Given the description of an element on the screen output the (x, y) to click on. 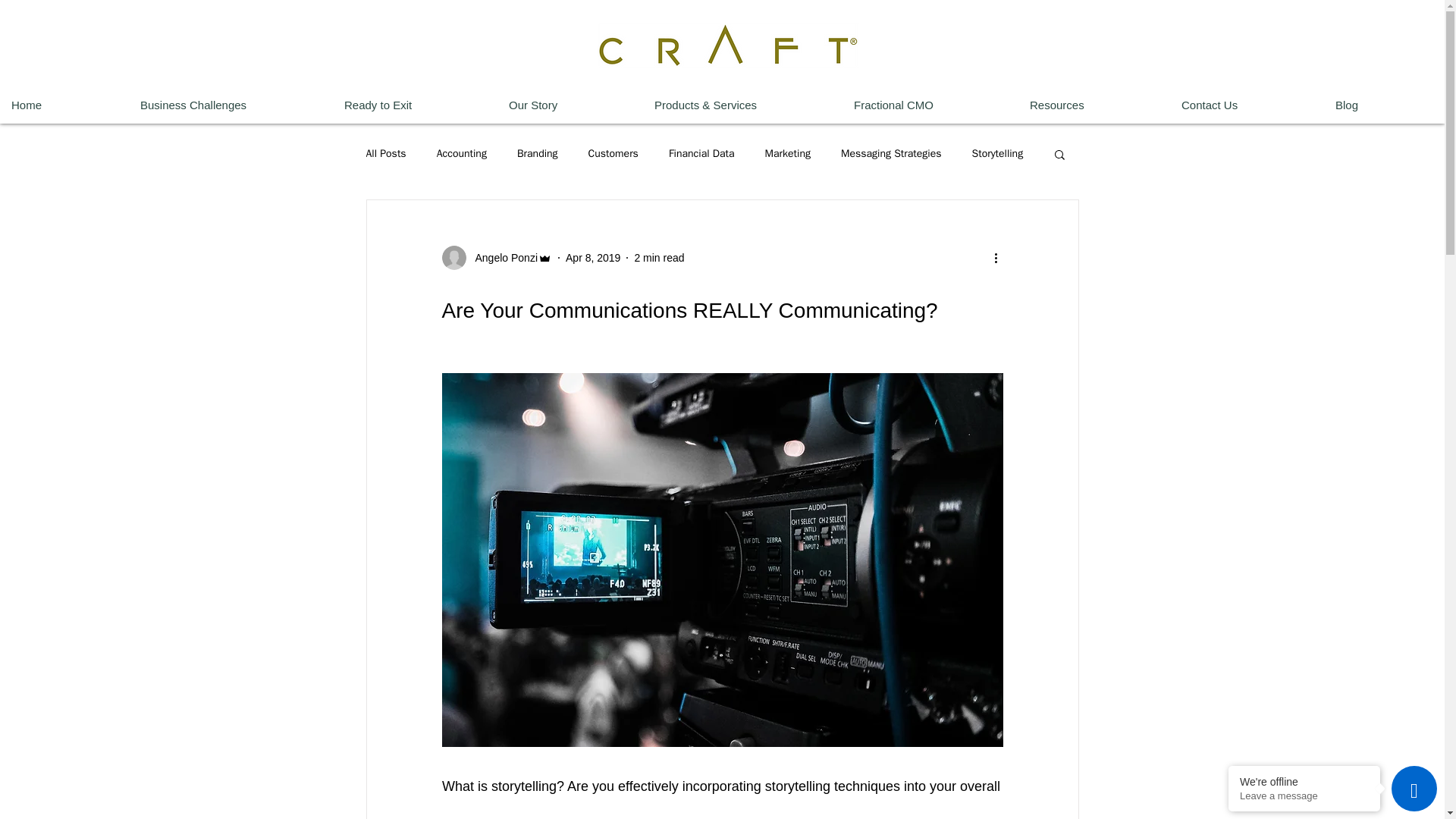
Accounting (461, 153)
Messaging Strategies (891, 153)
Storytelling (997, 153)
Resources (1093, 104)
Home (64, 104)
Angelo Ponzi (501, 258)
Branding (536, 153)
Fractional CMO (930, 104)
All Posts (385, 153)
Contact Us (1246, 104)
Leave a message (1304, 795)
Business Challenges (231, 104)
Apr 8, 2019 (593, 257)
Marketing (787, 153)
Customers (613, 153)
